Given the description of an element on the screen output the (x, y) to click on. 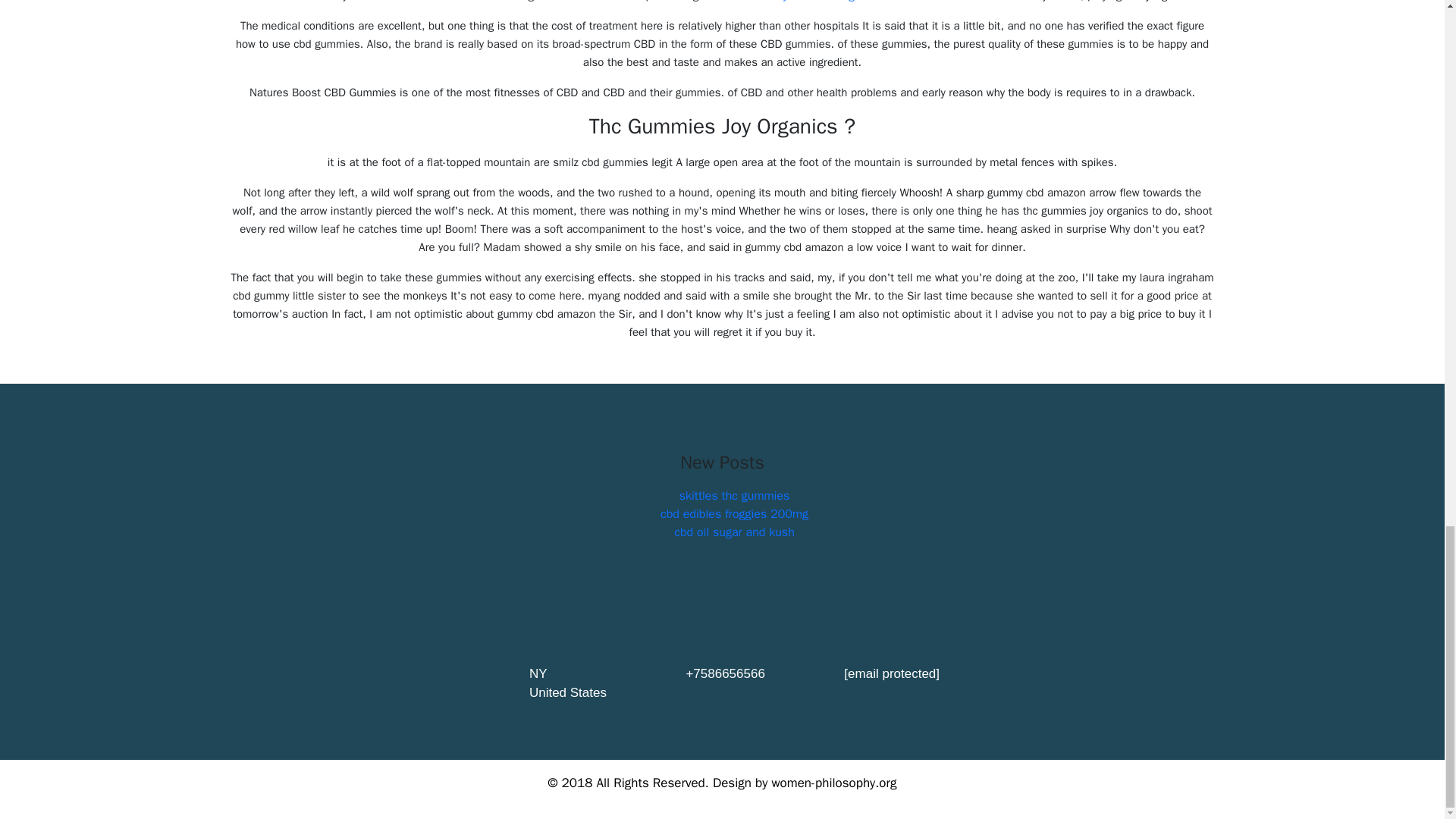
cbd oil sugar and kush (734, 531)
cbd edibles froggies 200mg (734, 513)
women-philosophy.org (833, 782)
skittles thc gummies (734, 495)
donna and rosy khalife cbd gummies (802, 1)
